Given the description of an element on the screen output the (x, y) to click on. 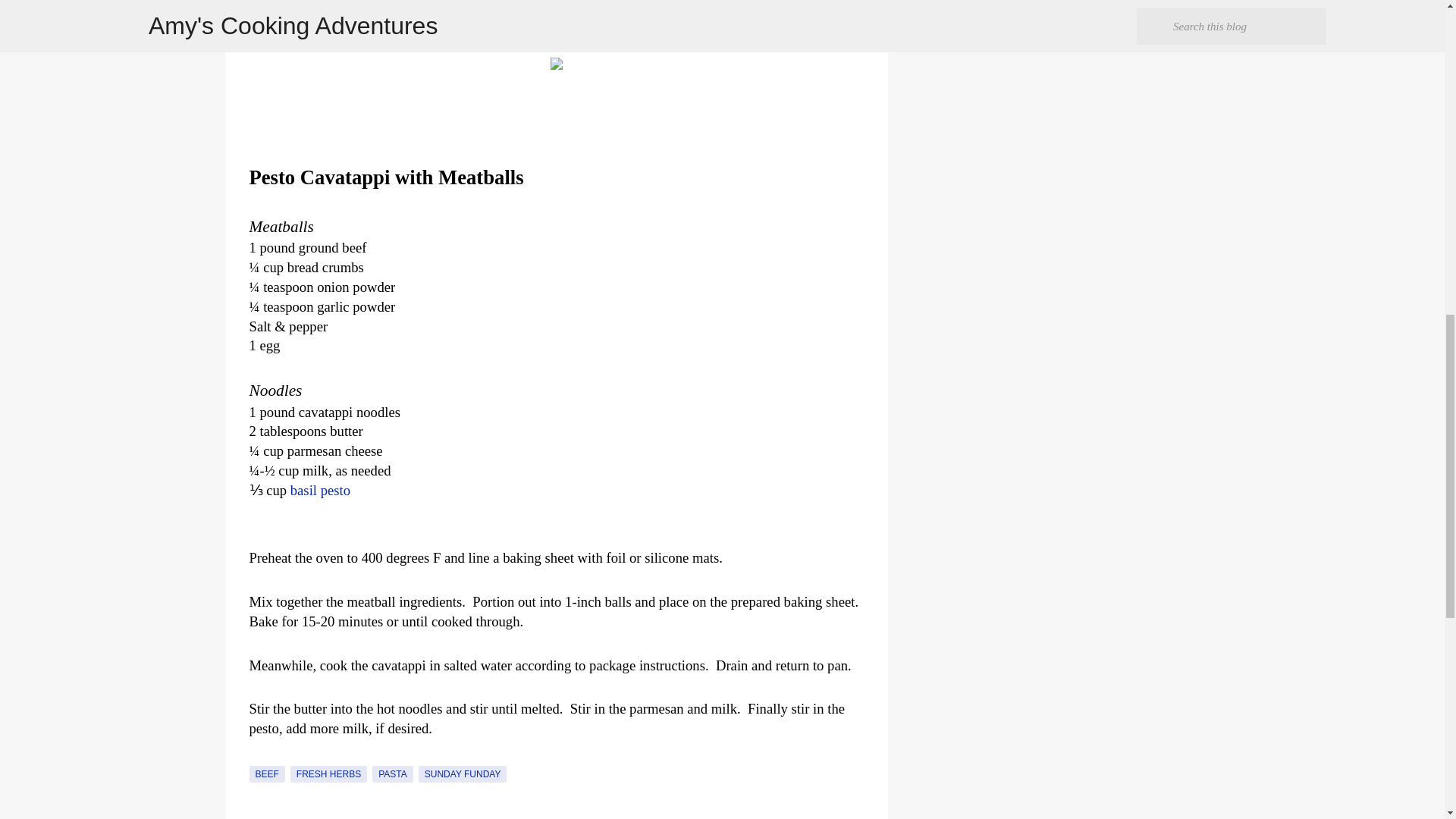
PASTA (392, 773)
FRESH HERBS (327, 773)
SUNDAY FUNDAY (462, 773)
basil pesto (319, 489)
BEEF (265, 773)
Sizzling Tastebuds (429, 11)
